Given the description of an element on the screen output the (x, y) to click on. 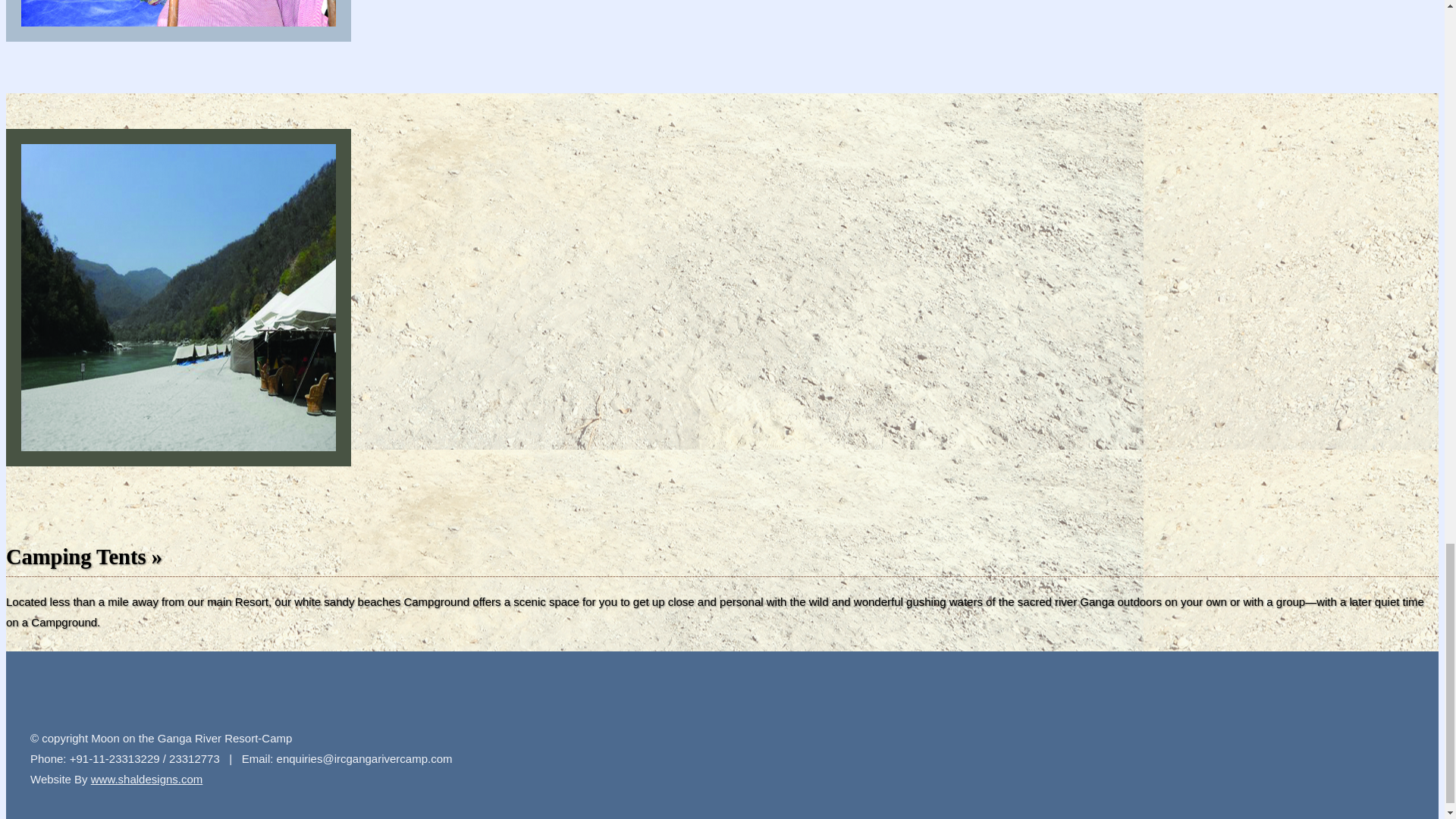
Visit shaldesigns (146, 779)
www.shaldesigns.com (146, 779)
